Given the description of an element on the screen output the (x, y) to click on. 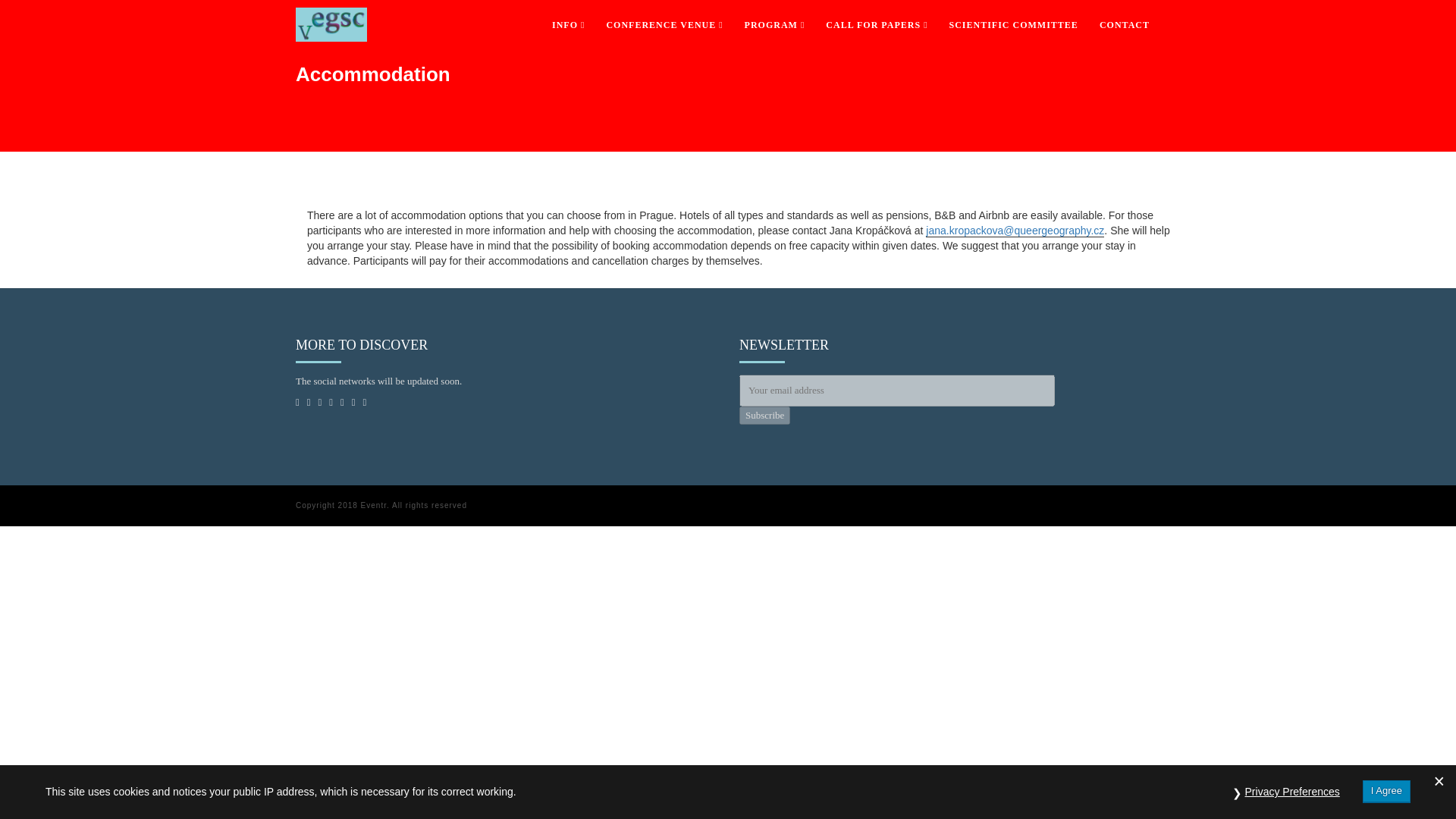
SCIENTIFIC COMMITTEE (1014, 24)
CALL FOR PAPERS (876, 24)
CONFERENCE VENUE (664, 24)
INFO (568, 24)
CONTACT (1124, 24)
Subscribe (764, 415)
CONFERENCE VENUE (664, 24)
PROGRAM (774, 24)
5th EGSC (330, 18)
Subscribe (764, 415)
PROGRAM (774, 24)
INFO (568, 24)
